Given the description of an element on the screen output the (x, y) to click on. 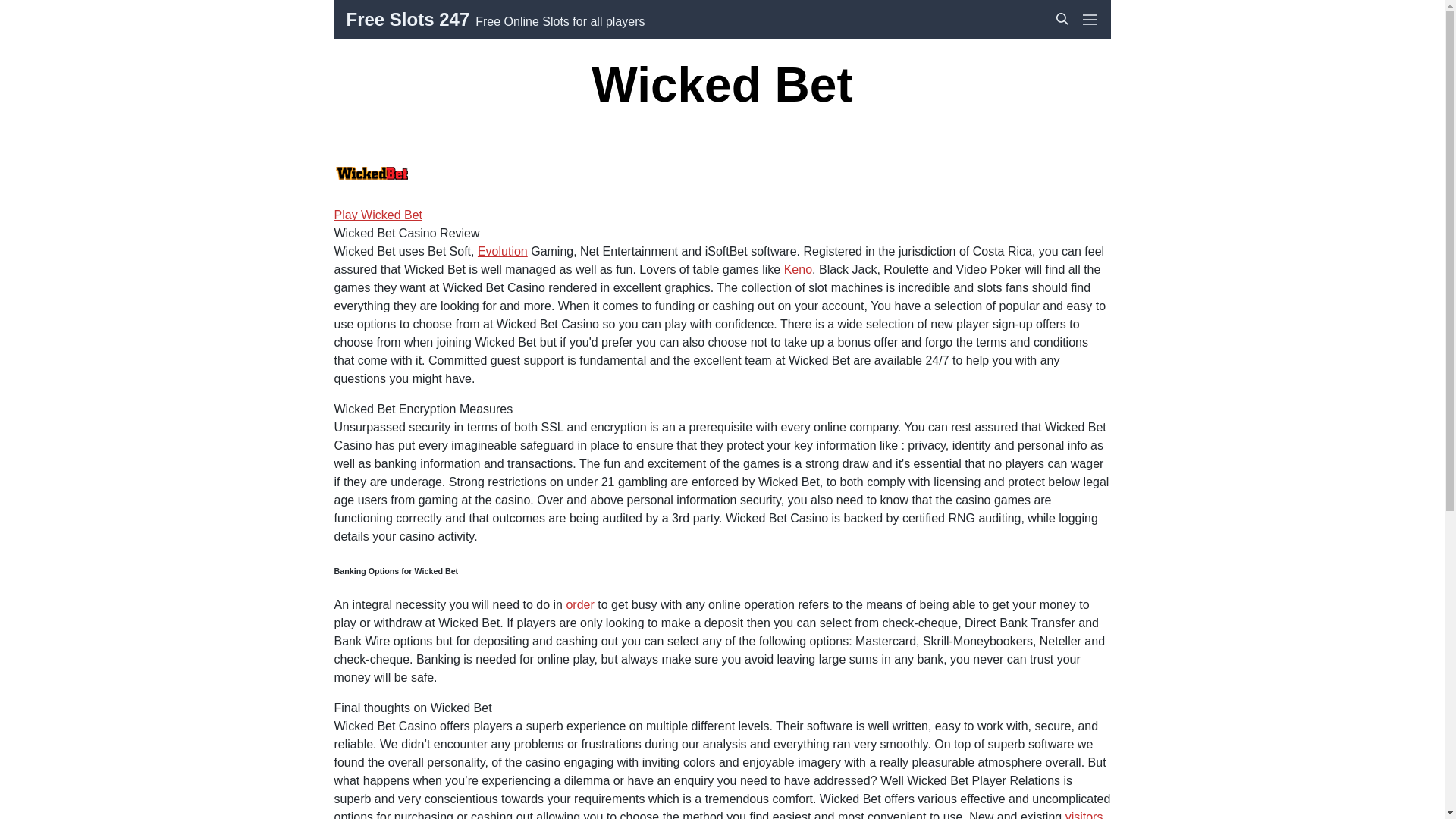
Search (1064, 52)
FREE SLOTS 247 (408, 6)
order (580, 604)
FREE SLOTS BY SOFTWARE (475, 6)
Evolution (502, 250)
CASINOS BY SOFTWARE (464, 6)
Search (1061, 19)
Free Slots 247 (407, 19)
Play Wicked Bet (377, 214)
Keno (798, 269)
CASINOS (385, 6)
Wicked Bet (371, 175)
Primary Menu (1088, 19)
FREE SLOTS (395, 6)
visitors (1084, 814)
